Given the description of an element on the screen output the (x, y) to click on. 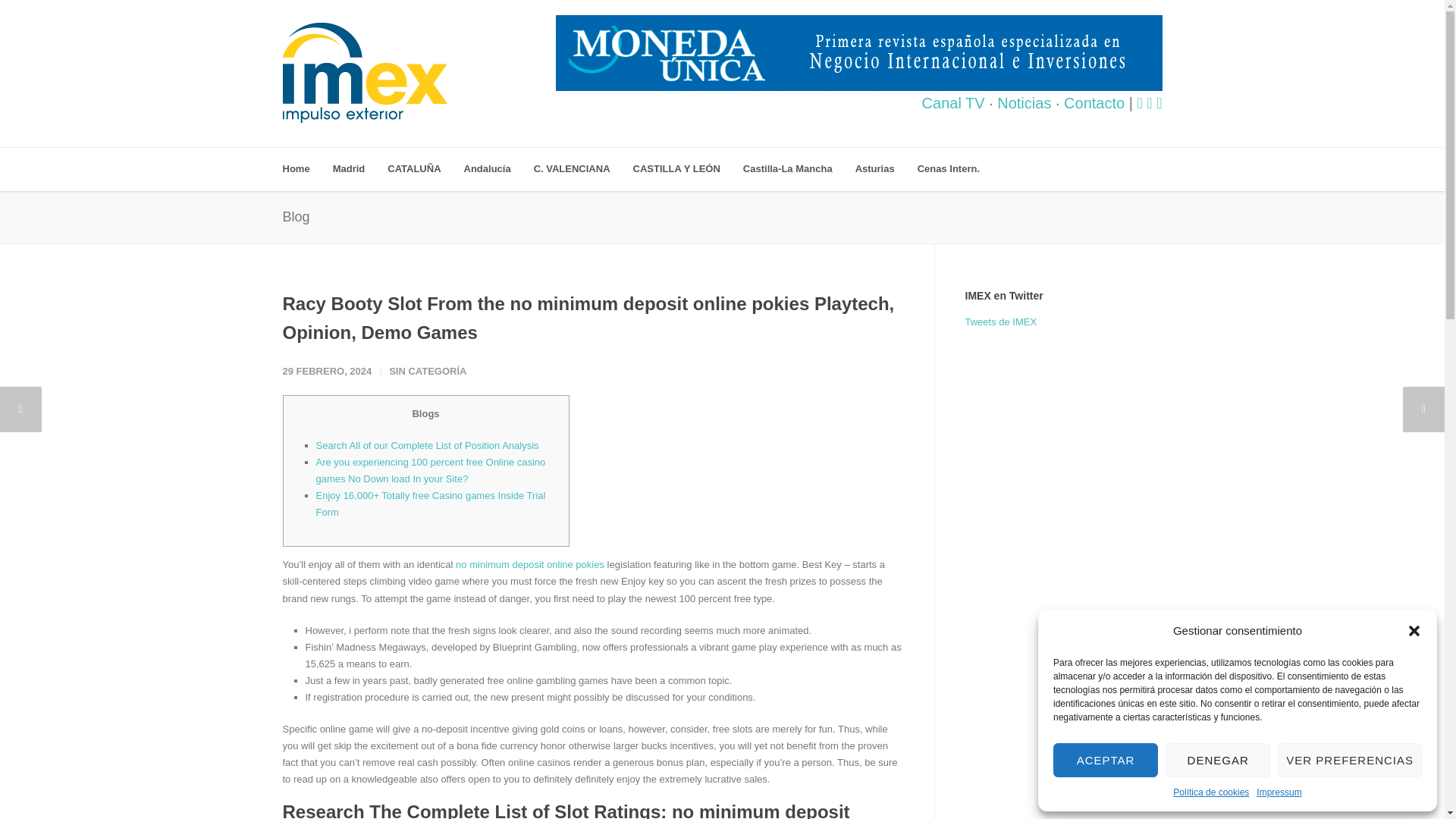
VER PREFERENCIAS (1350, 759)
DENEGAR (1217, 759)
Madrid (360, 169)
Contacto (1094, 103)
ACEPTAR (1104, 759)
Impressum (1278, 792)
Canal TV (953, 103)
Home (306, 169)
Noticias (1024, 103)
